Given the description of an element on the screen output the (x, y) to click on. 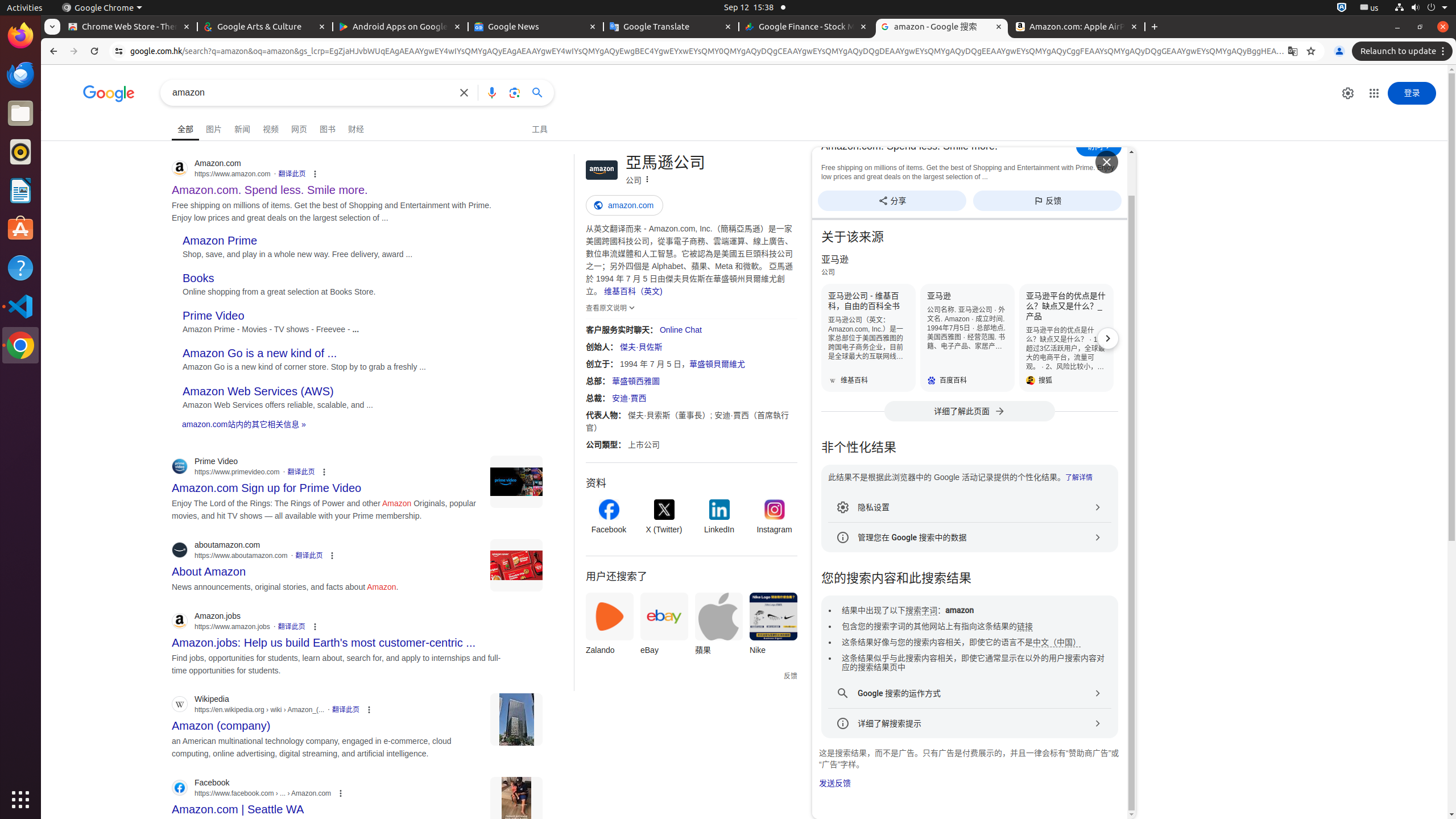
发送反馈 Element type: link (834, 782)
Reload Element type: push-button (94, 50)
New Tab Element type: push-button (1154, 26)
翻译此页 Element type: link (291, 173)
 Amazon.jobs: Help us build Earth's most customer-centric ... Amazon.jobs https://www.amazon.jobs Element type: link (323, 639)
